Given the description of an element on the screen output the (x, y) to click on. 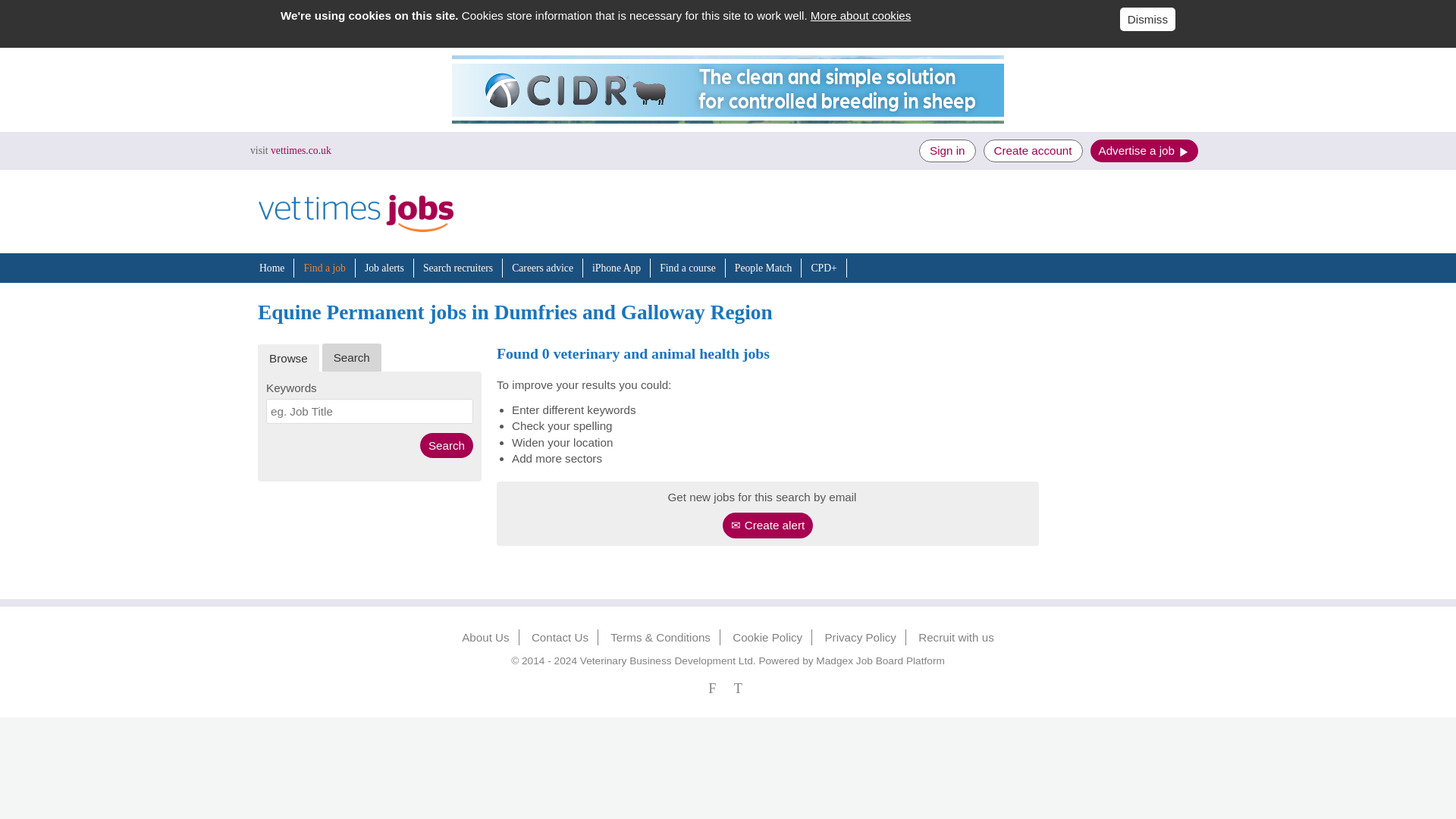
iPhone App (616, 267)
More about cookies (860, 15)
Search (446, 445)
Sign in (946, 150)
Contact Us (559, 636)
Search (446, 445)
Create alert (767, 524)
Find a job (323, 267)
Cookie Policy (767, 636)
Careers advice (542, 267)
Find a course (687, 267)
Advertise a job (1144, 150)
Browse (287, 357)
Home (271, 267)
Job alerts (384, 267)
